Given the description of an element on the screen output the (x, y) to click on. 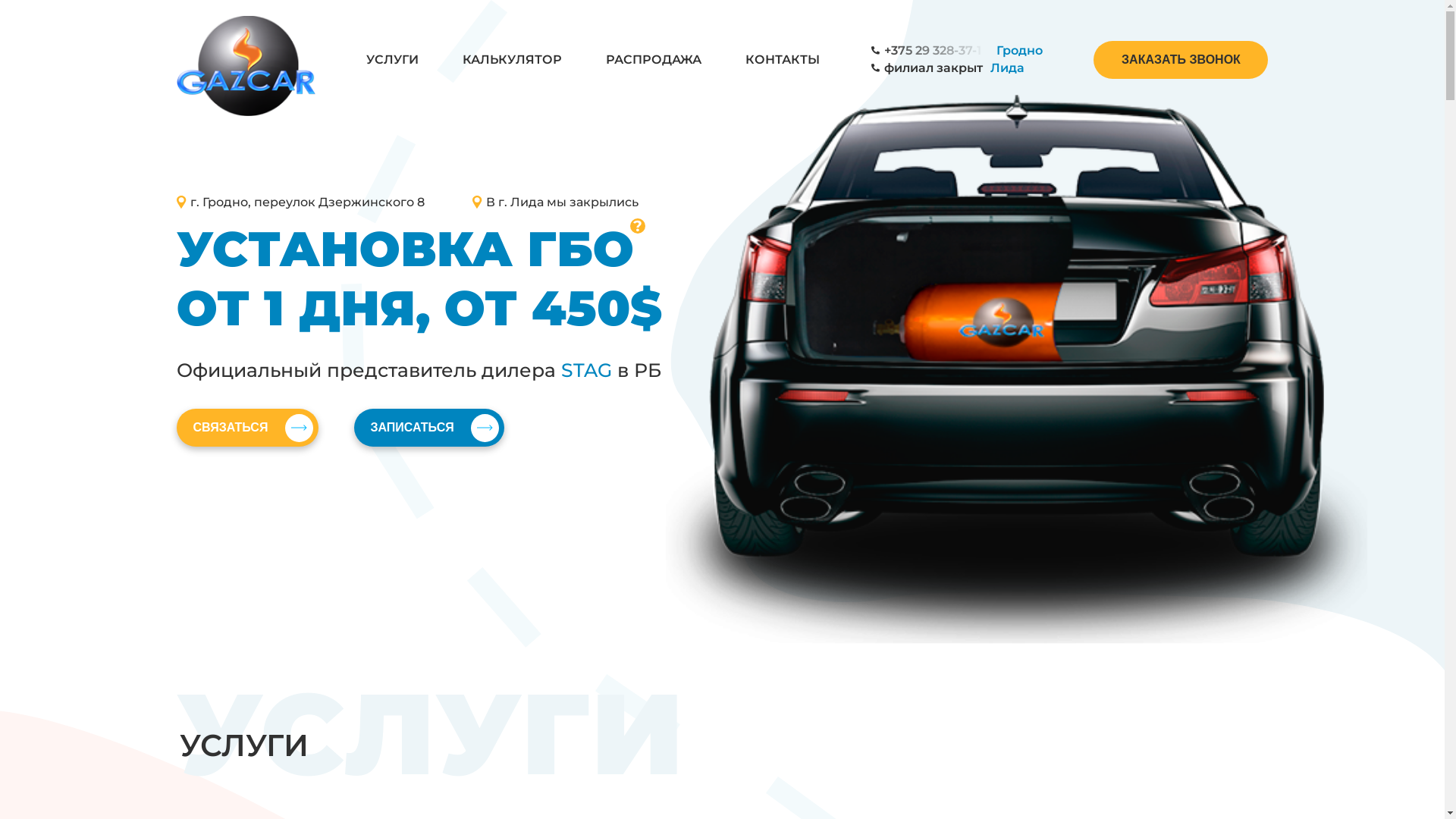
STAG Element type: text (586, 369)
GazCar Element type: hover (244, 58)
